Given the description of an element on the screen output the (x, y) to click on. 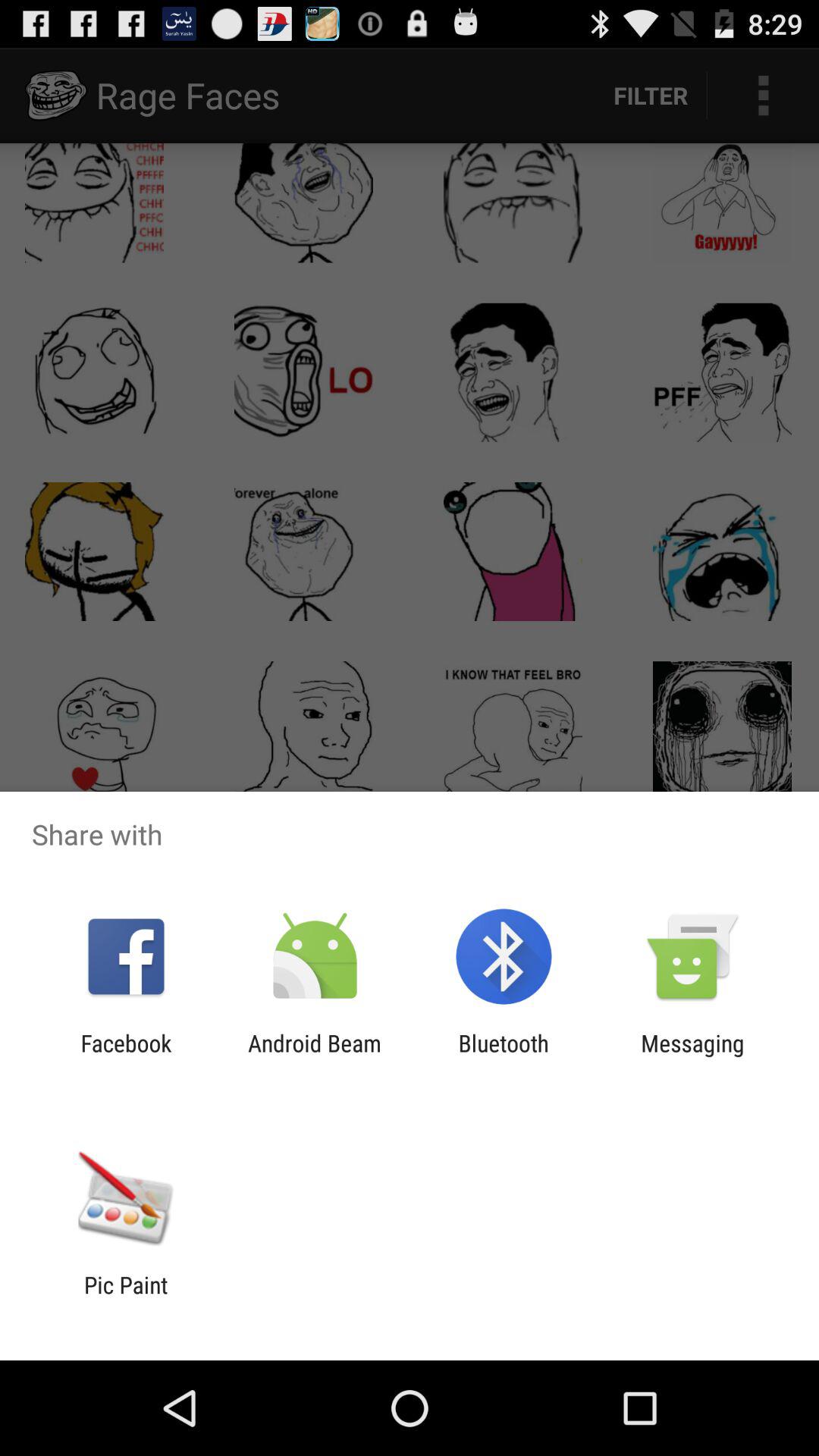
jump to the facebook app (125, 1056)
